Given the description of an element on the screen output the (x, y) to click on. 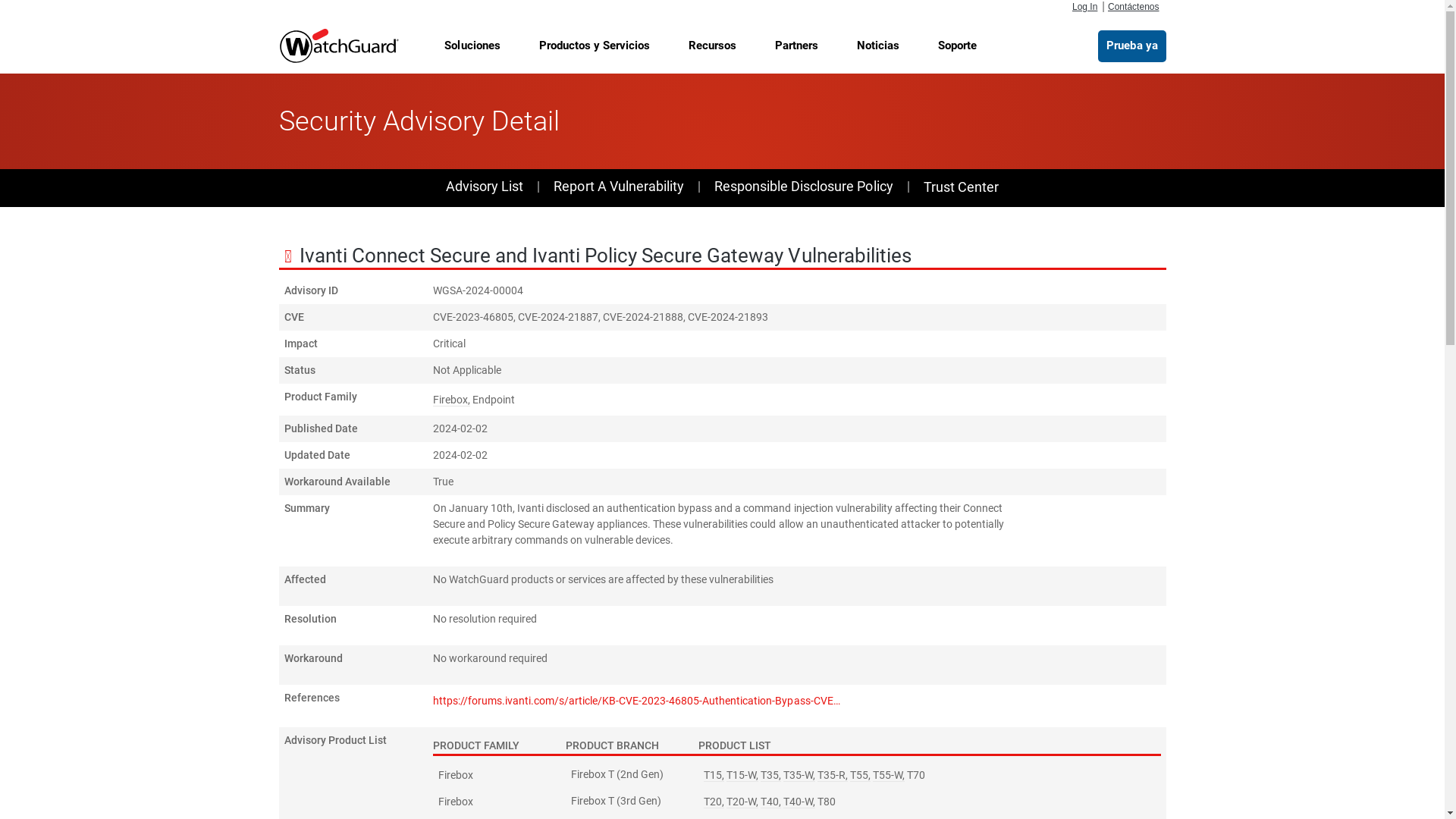
Soluciones (471, 45)
Log In (1084, 6)
Productos y Servicios (594, 45)
